Given the description of an element on the screen output the (x, y) to click on. 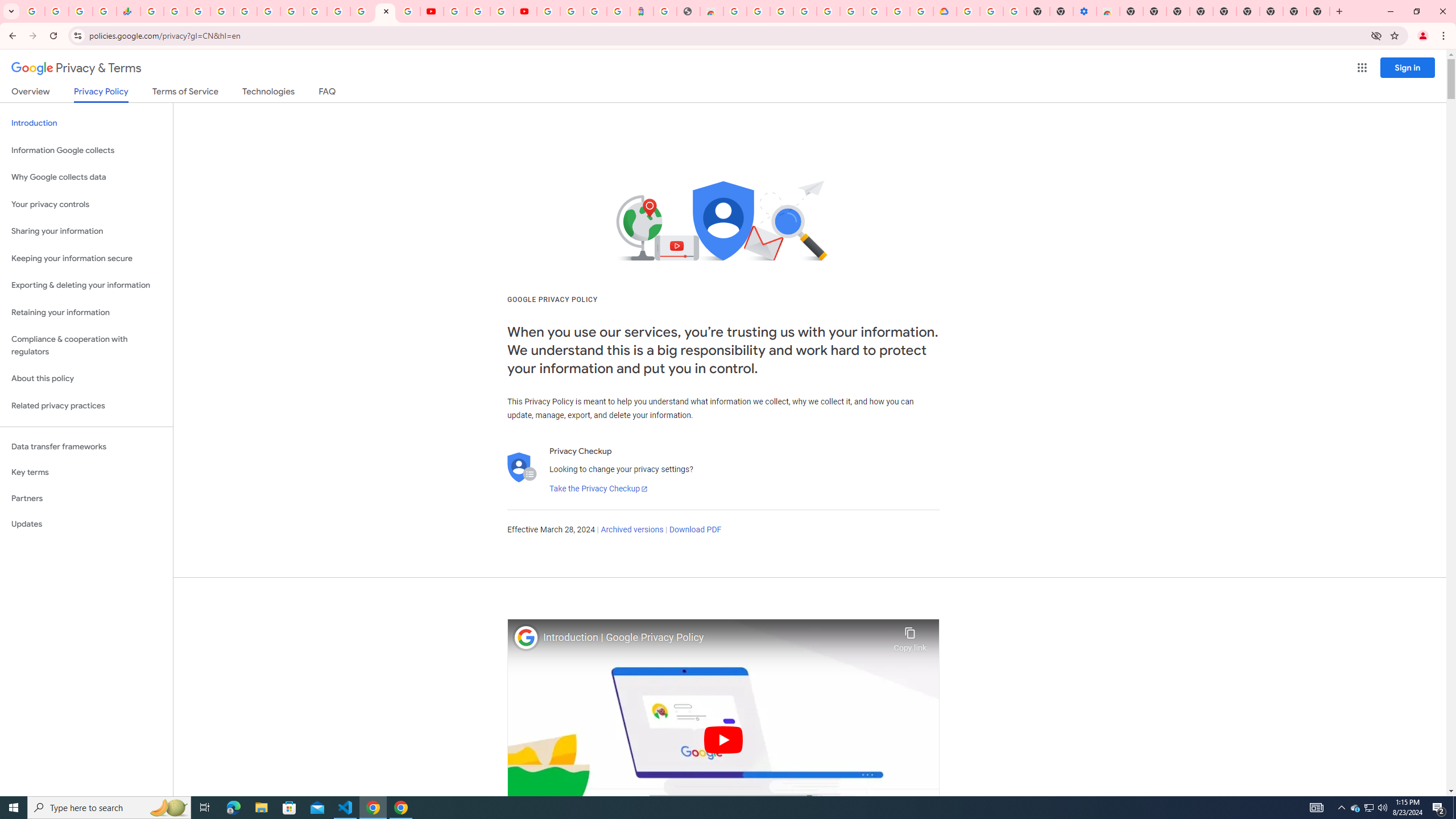
YouTube (314, 11)
Download PDF (695, 529)
Key terms (86, 472)
Your privacy controls (86, 204)
Exporting & deleting your information (86, 284)
Create your Google Account (501, 11)
Browse the Google Chrome Community - Google Chrome Community (921, 11)
Introduction (86, 122)
Sign in - Google Accounts (221, 11)
